Given the description of an element on the screen output the (x, y) to click on. 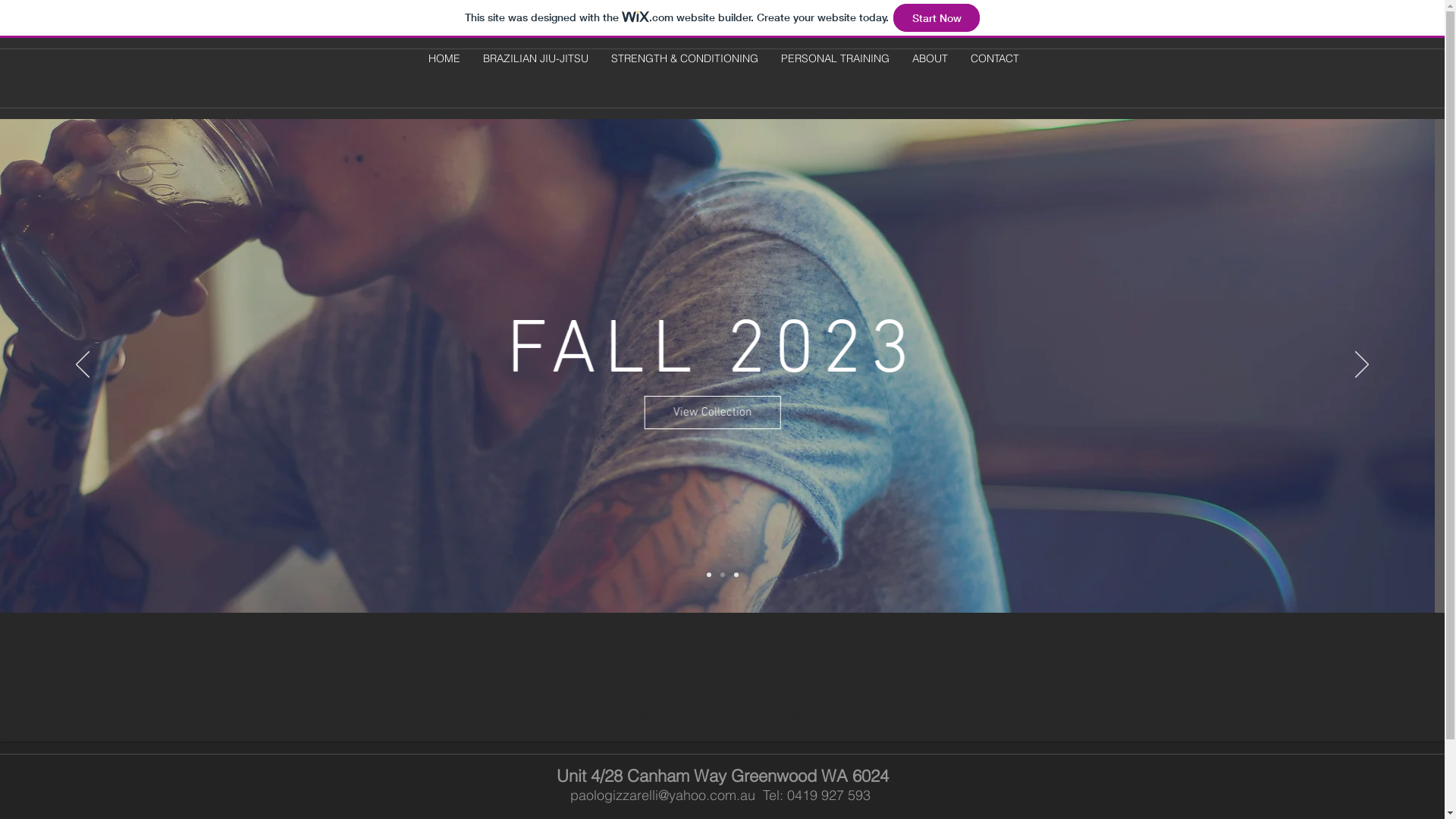
paologizzarelli@yahoo.com.au Element type: text (662, 794)
HOME Element type: text (444, 58)
PERSONAL TRAINING Element type: text (834, 58)
BRAZILIAN JIU-JITSU Element type: text (535, 58)
STRENGTH & CONDITIONING Element type: text (683, 58)
ABOUT Element type: text (929, 58)
CONTACT Element type: text (993, 58)
